Given the description of an element on the screen output the (x, y) to click on. 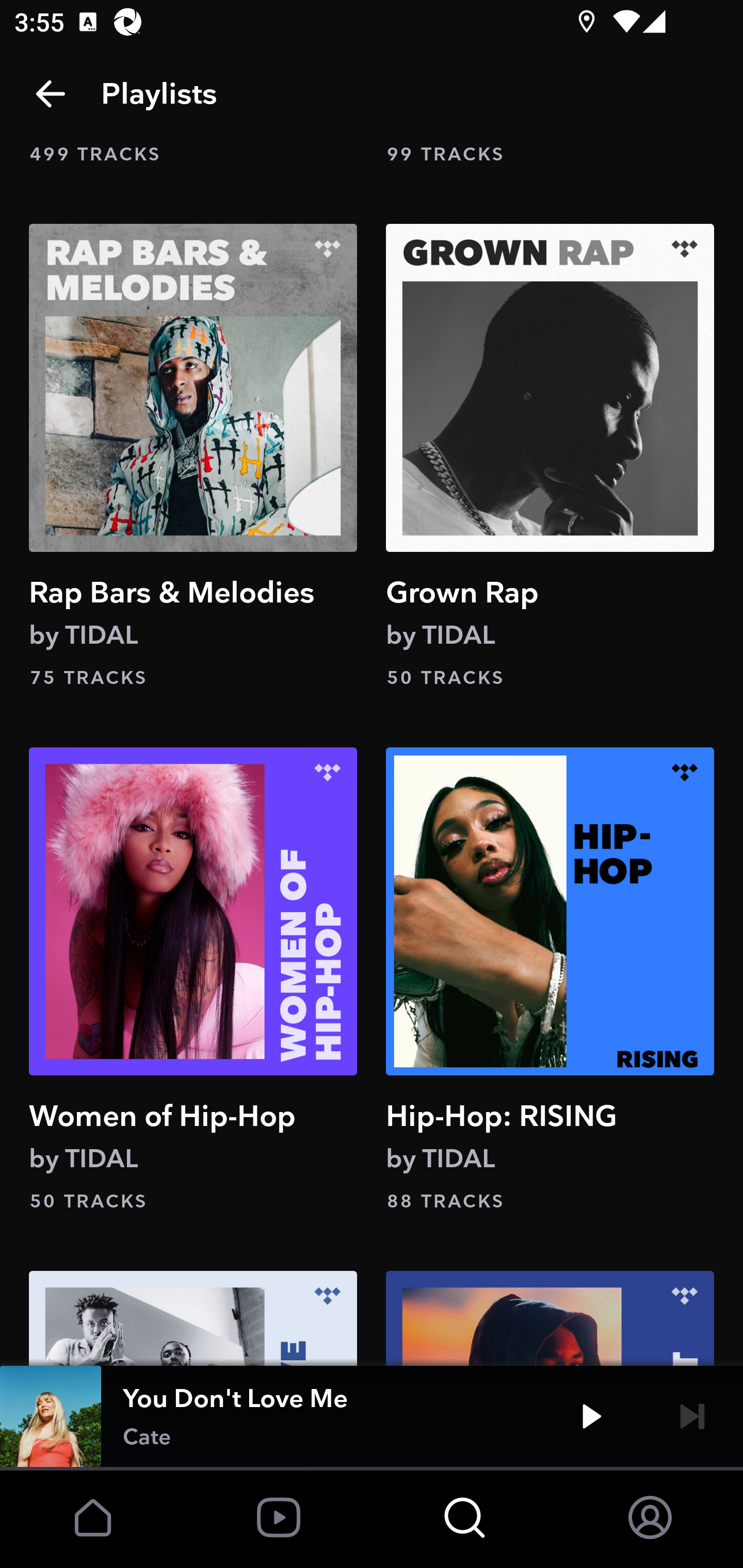
499 TRACKS (192, 155)
99 TRACKS (549, 155)
Rap Bars & Melodies by TIDAL 75 TRACKS (192, 456)
Grown Rap by TIDAL 50 TRACKS (549, 456)
Women of Hip-Hop by TIDAL 50 TRACKS (192, 980)
Hip-Hop: RISING by TIDAL 88 TRACKS (549, 980)
You Don't Love Me Cate Play (371, 1416)
Play (590, 1416)
